Given the description of an element on the screen output the (x, y) to click on. 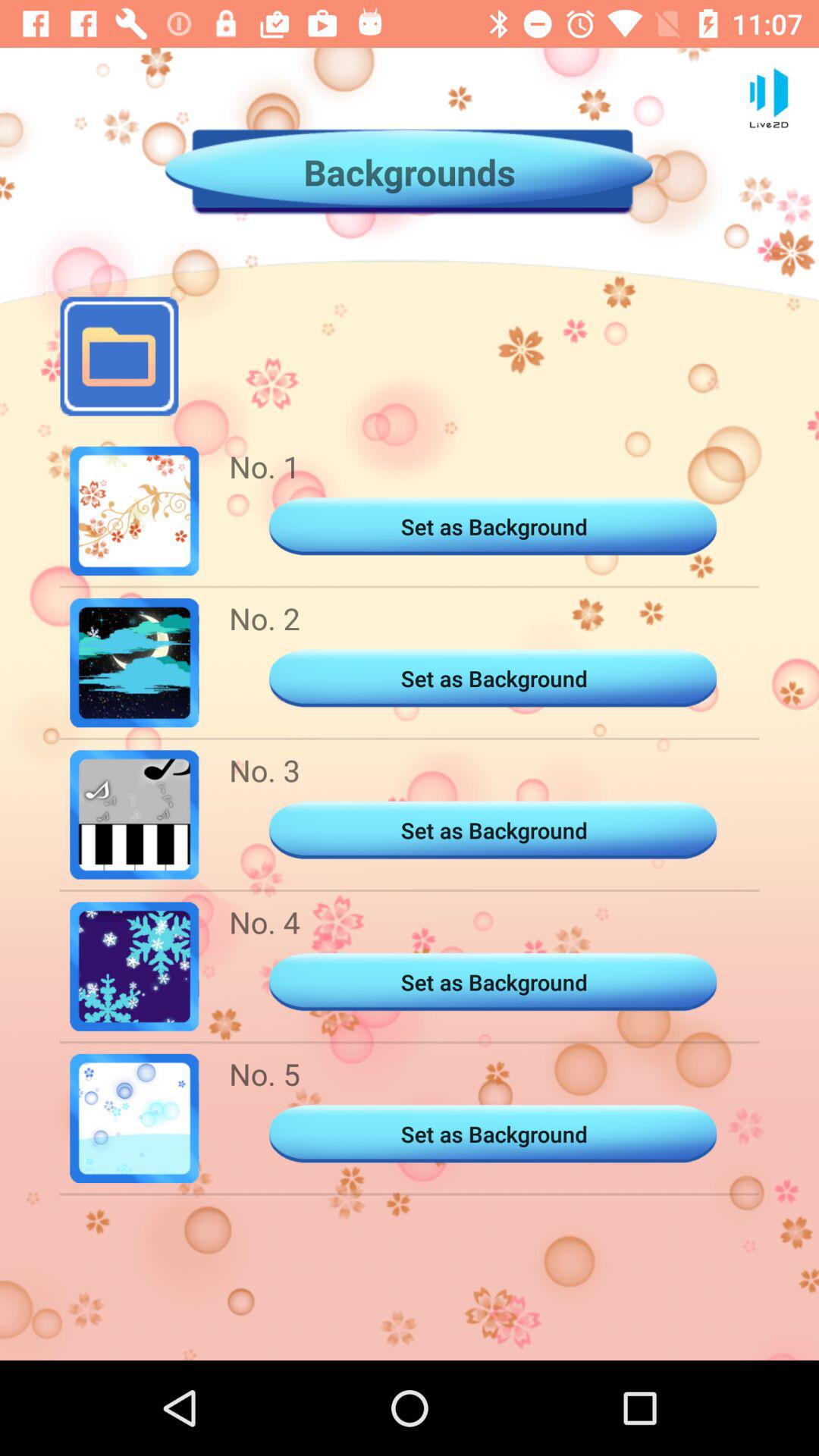
open the file manager (119, 356)
